Given the description of an element on the screen output the (x, y) to click on. 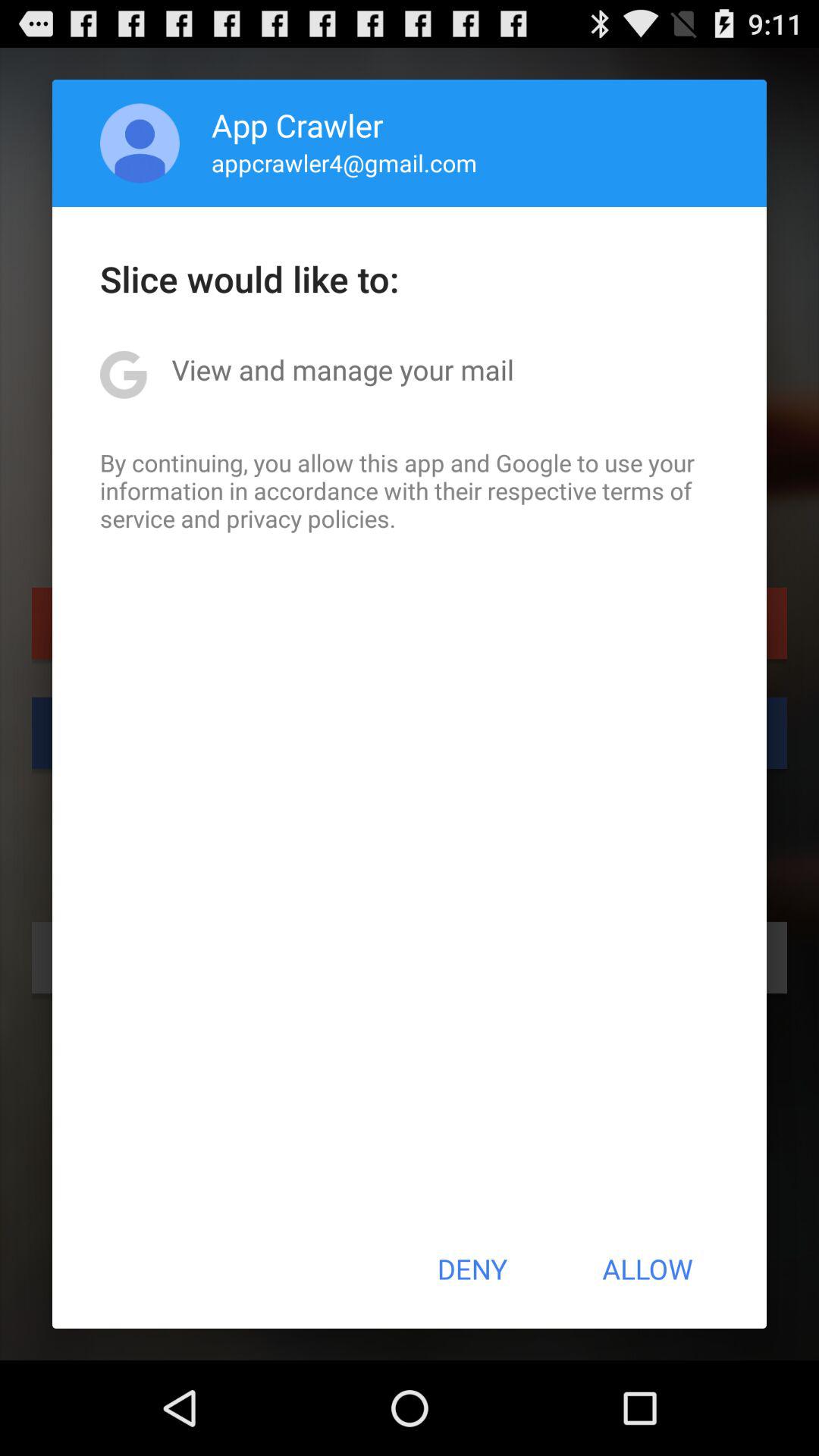
flip to app crawler item (297, 124)
